Given the description of an element on the screen output the (x, y) to click on. 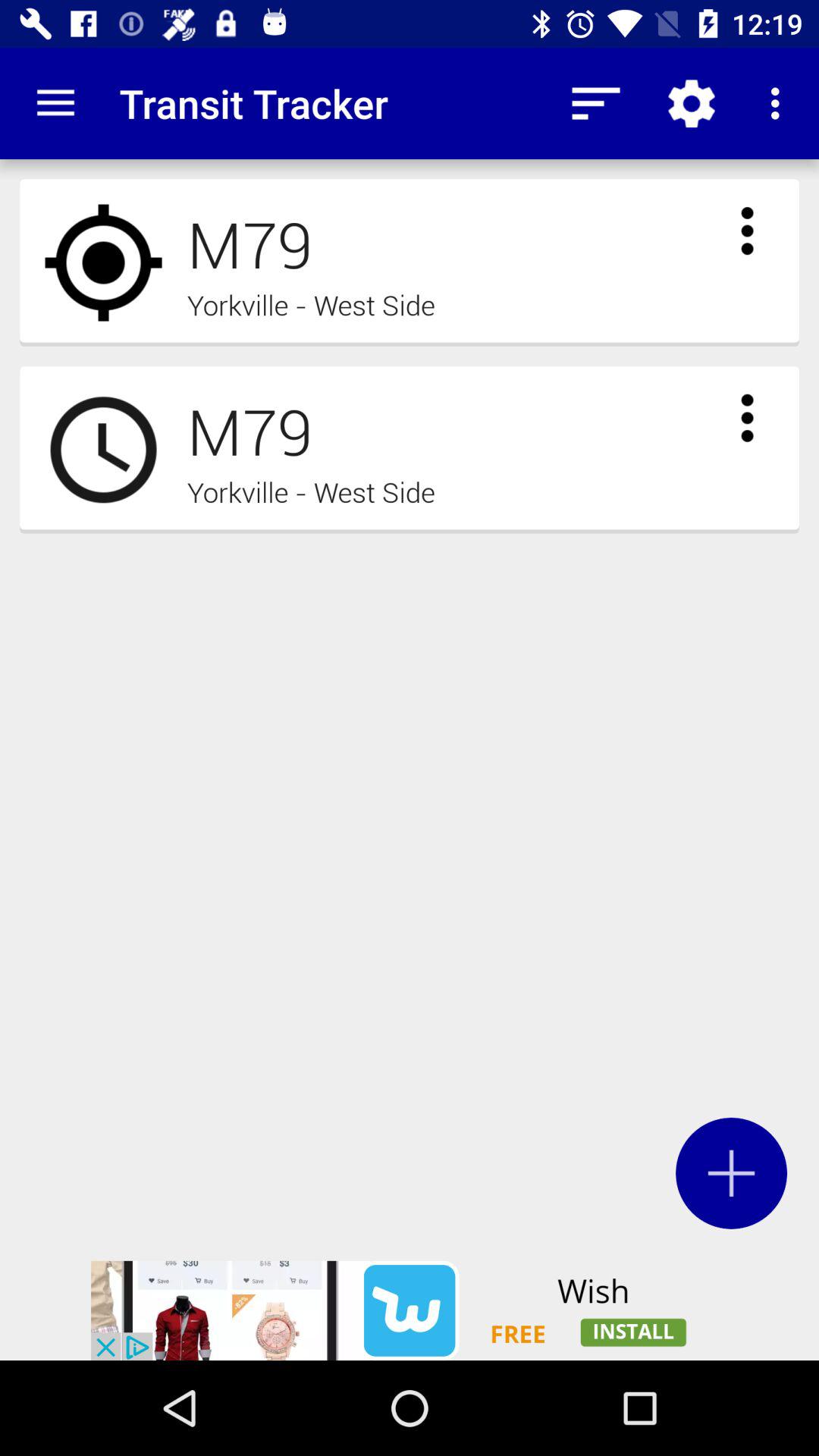
go to add (731, 1173)
